Given the description of an element on the screen output the (x, y) to click on. 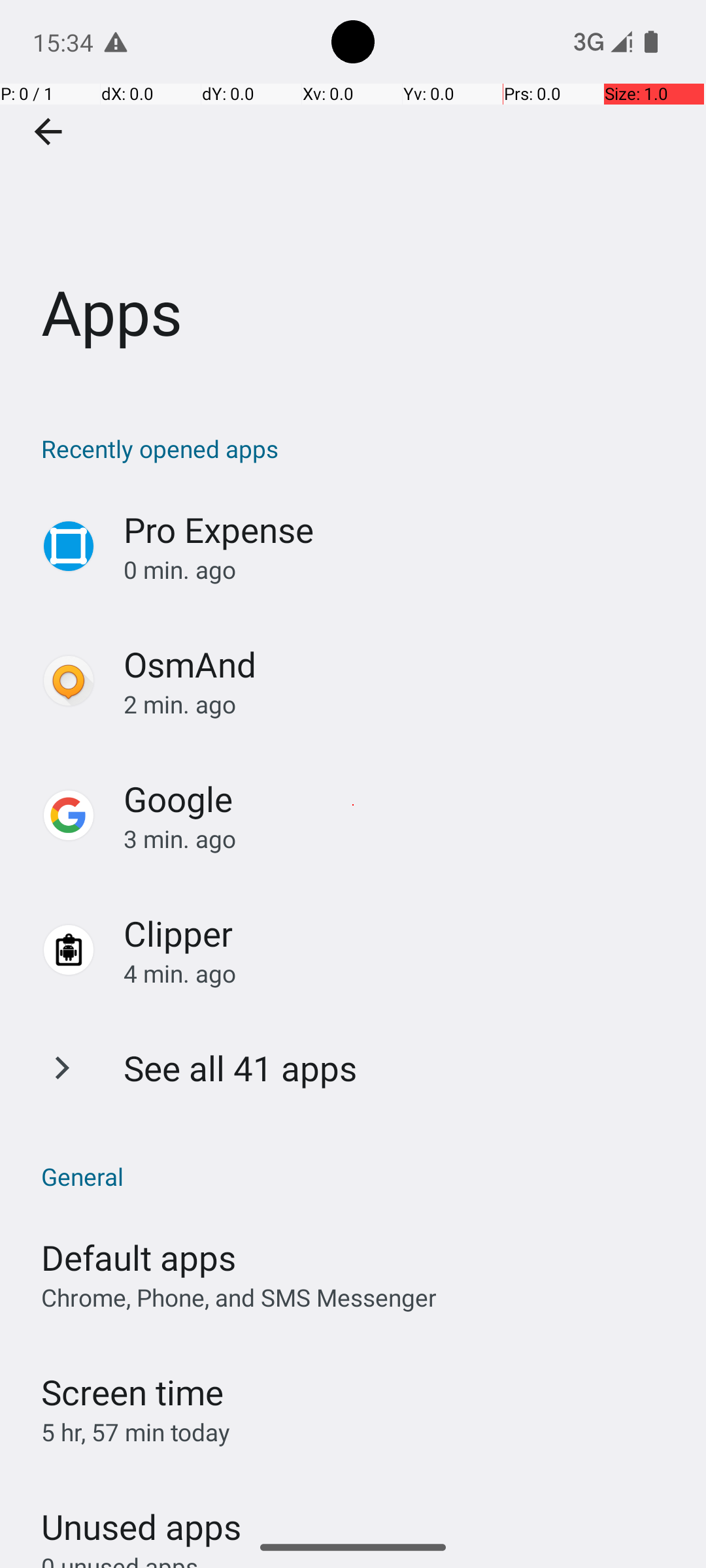
Recently opened apps Element type: android.widget.TextView (359, 448)
0 min. ago Element type: android.widget.TextView (400, 569)
OsmAnd Element type: android.widget.TextView (189, 663)
2 min. ago Element type: android.widget.TextView (400, 703)
Google Element type: android.widget.TextView (177, 798)
3 min. ago Element type: android.widget.TextView (400, 838)
Clipper Element type: android.widget.TextView (177, 933)
4 min. ago Element type: android.widget.TextView (400, 972)
See all 41 apps Element type: android.widget.TextView (239, 1067)
Default apps Element type: android.widget.TextView (138, 1257)
Chrome, Phone, and SMS Messenger Element type: android.widget.TextView (238, 1296)
5 hr, 57 min today Element type: android.widget.TextView (135, 1431)
Unused apps Element type: android.widget.TextView (141, 1514)
